Given the description of an element on the screen output the (x, y) to click on. 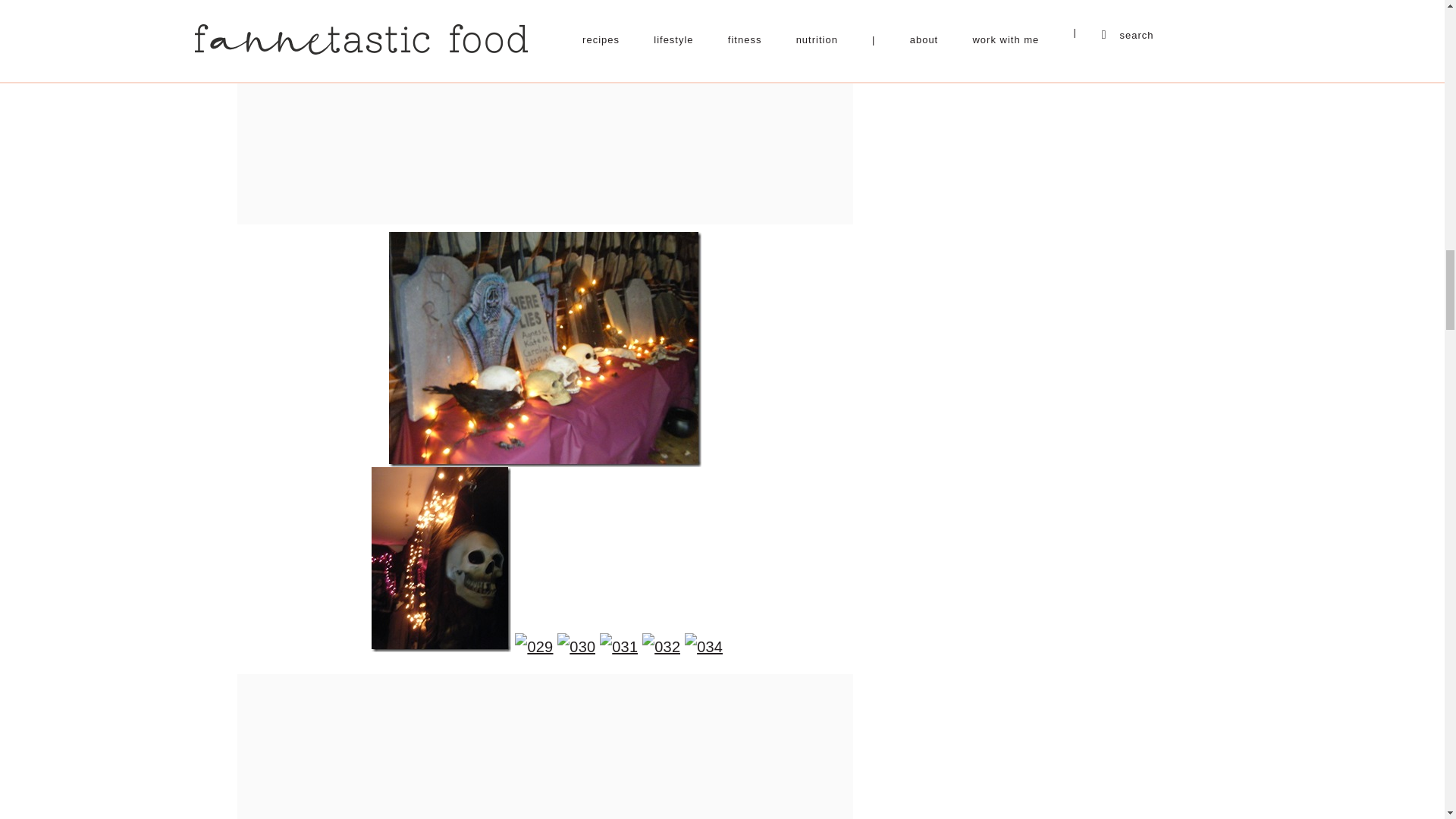
025 (544, 348)
030 (576, 646)
034 (703, 646)
032 (660, 646)
031 (618, 646)
029 (534, 646)
